Given the description of an element on the screen output the (x, y) to click on. 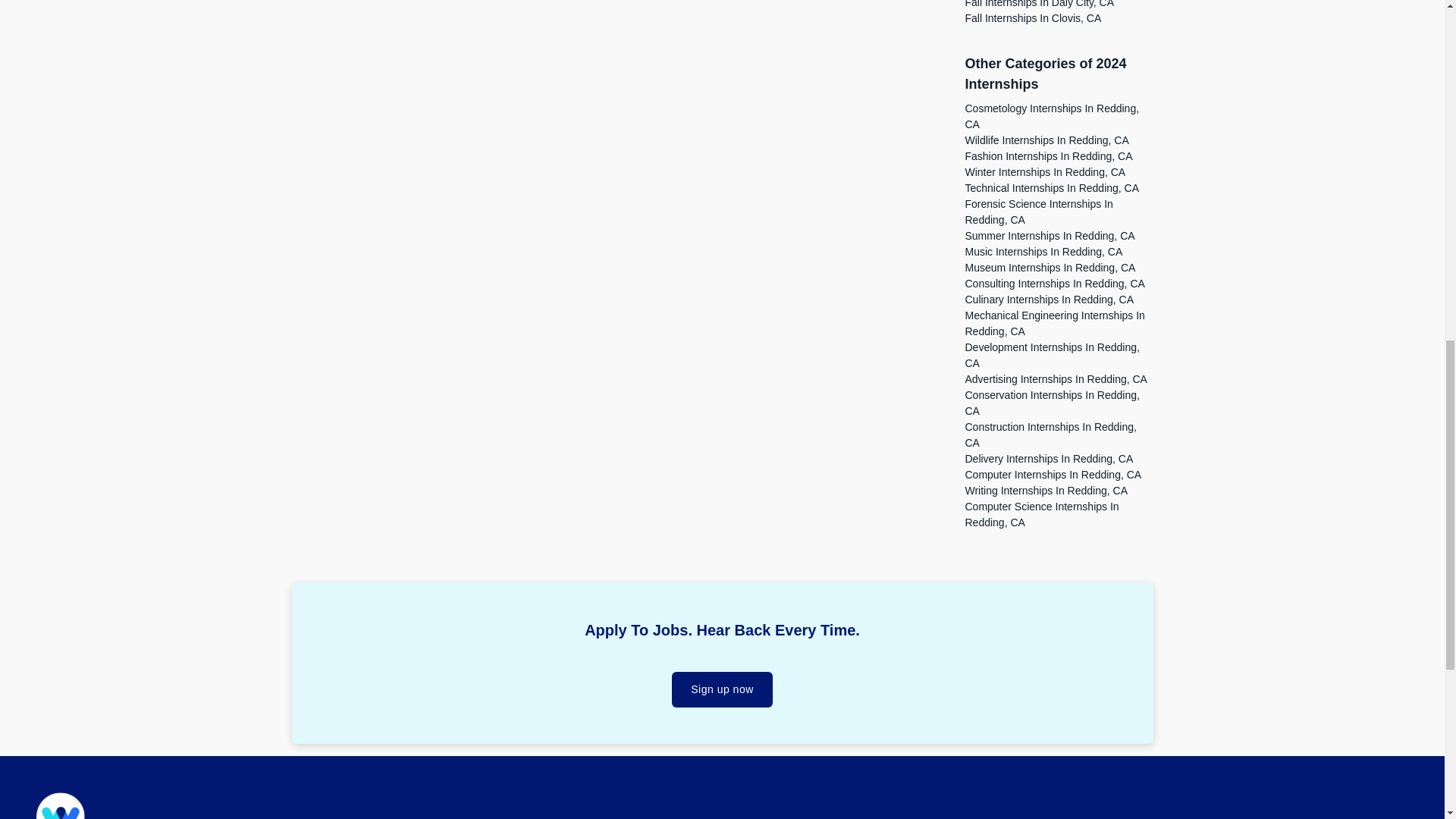
Fall Internships In Daly City, CA (1038, 4)
Technical Internships In Redding, CA (1050, 187)
Forensic Science Internships In Redding, CA (1037, 212)
Fall Internships In Clovis, CA (1031, 18)
Winter Internships In Redding, CA (1044, 172)
Music Internships In Redding, CA (1042, 251)
Summer Internships In Redding, CA (1048, 235)
Wildlife Internships In Redding, CA (1045, 140)
Museum Internships In Redding, CA (1049, 267)
Cosmetology Internships In Redding, CA (1050, 116)
Consulting Internships In Redding, CA (1053, 283)
Fashion Internships In Redding, CA (1047, 155)
